Given the description of an element on the screen output the (x, y) to click on. 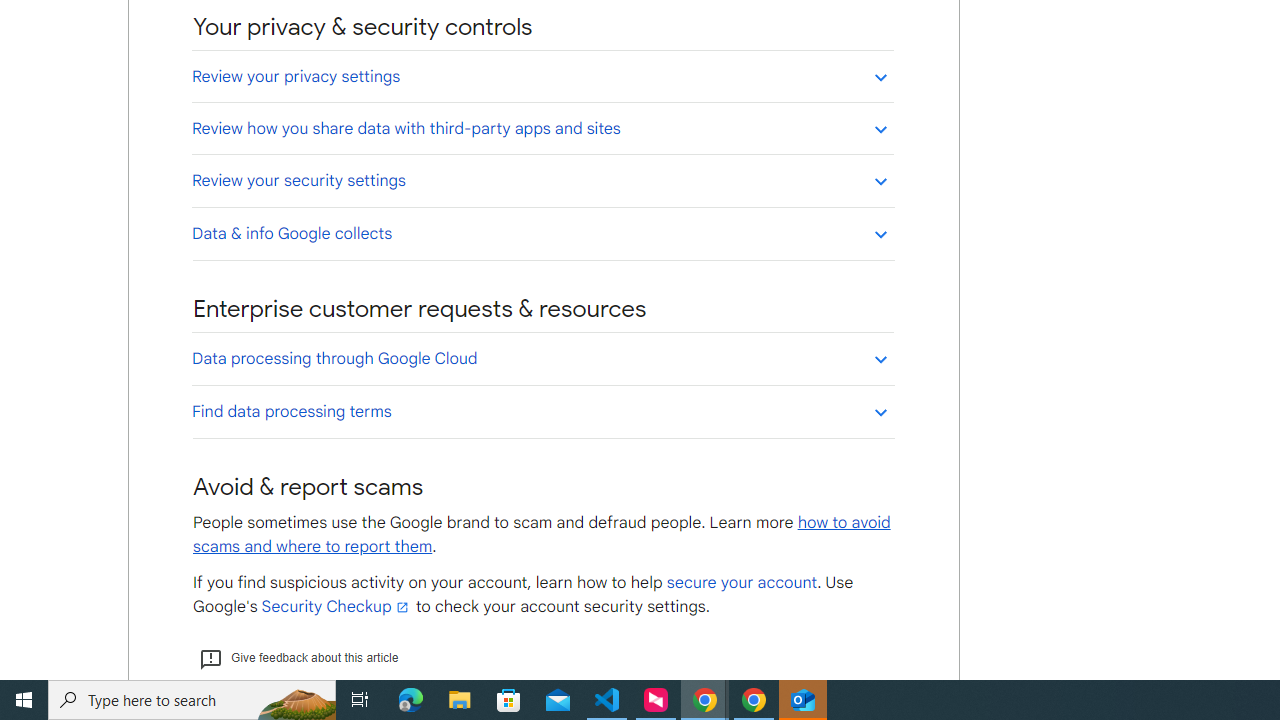
Review how you share data with third-party apps and sites (542, 128)
Data processing through Google Cloud (542, 358)
secure your account (741, 583)
Data & info Google collects (542, 233)
Give feedback about this article (298, 657)
Review your security settings (542, 180)
Find data processing terms (542, 411)
how to avoid scams and where to report them (541, 534)
Review your privacy settings (542, 75)
Security Checkup (336, 606)
